Given the description of an element on the screen output the (x, y) to click on. 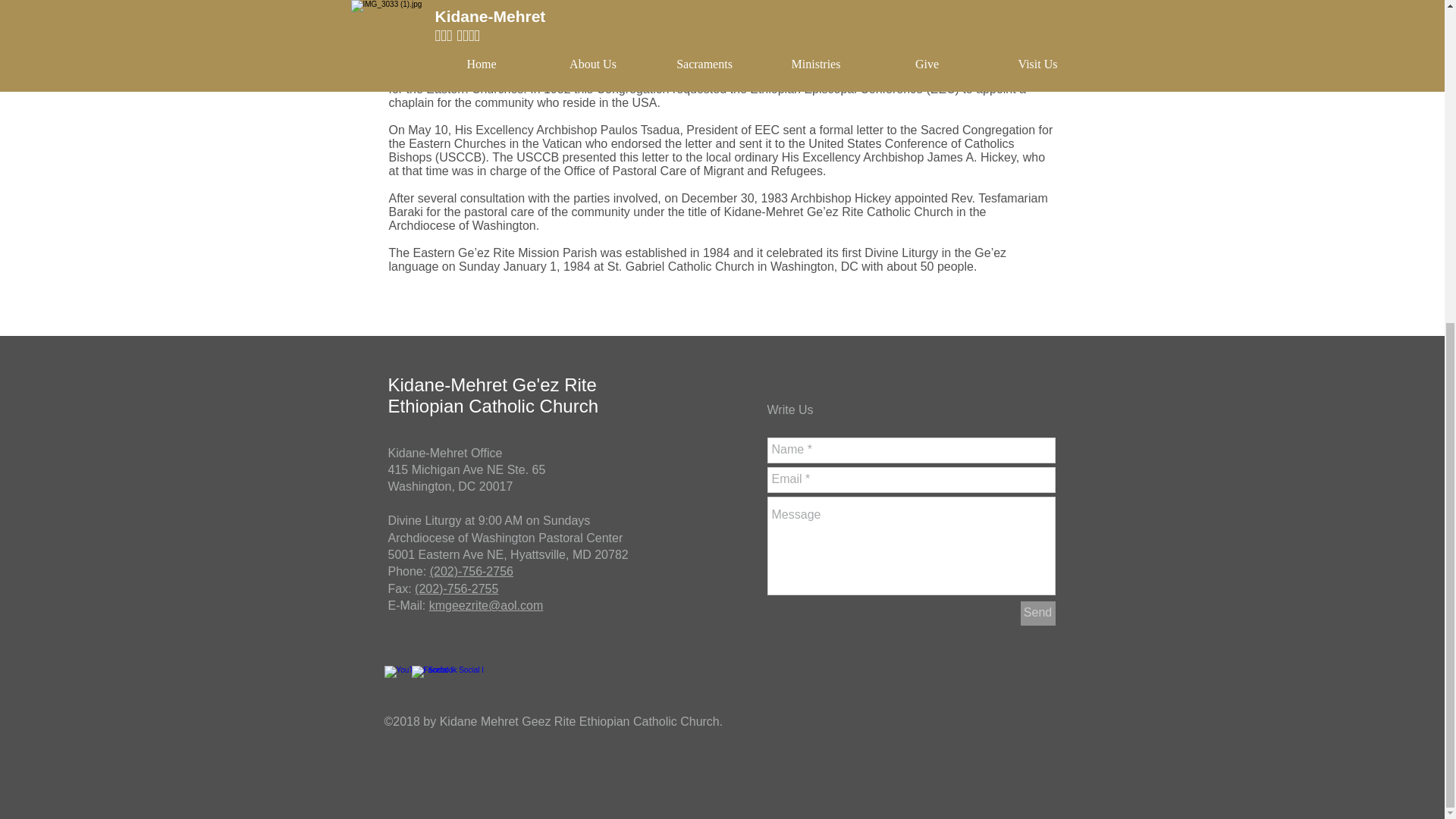
Send (1037, 613)
Divine Liturgy at 9:00 AM on Sundays (489, 520)
Archdiocese of Washington Pastoral Center (467, 478)
